Given the description of an element on the screen output the (x, y) to click on. 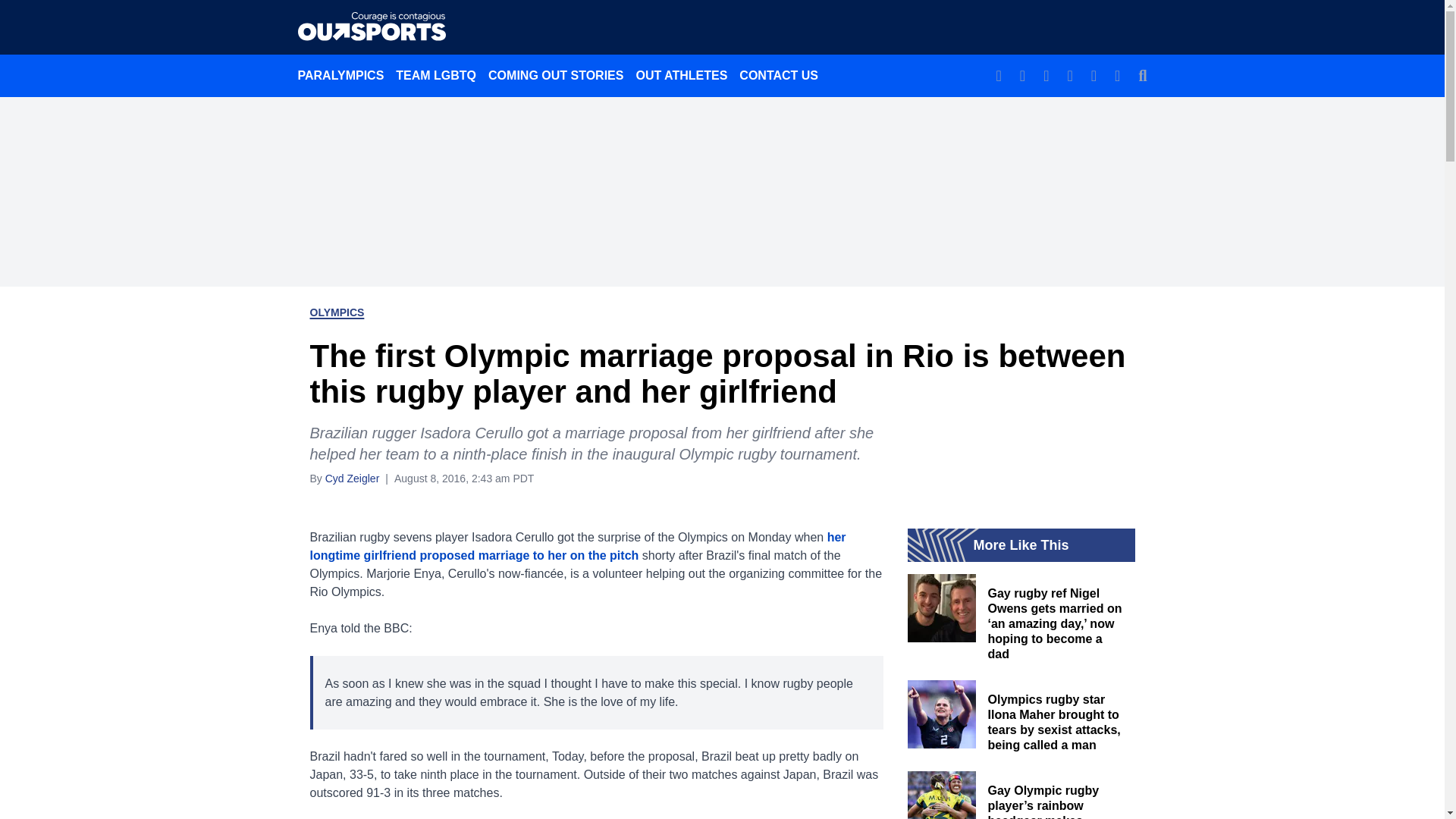
PARALYMPICS (340, 75)
OUT ATHLETES (680, 75)
CONTACT US (778, 75)
COMING OUT STORIES (554, 75)
TEAM LGBTQ (435, 75)
Cyd Zeigler (352, 477)
OLYMPICS (336, 312)
